Given the description of an element on the screen output the (x, y) to click on. 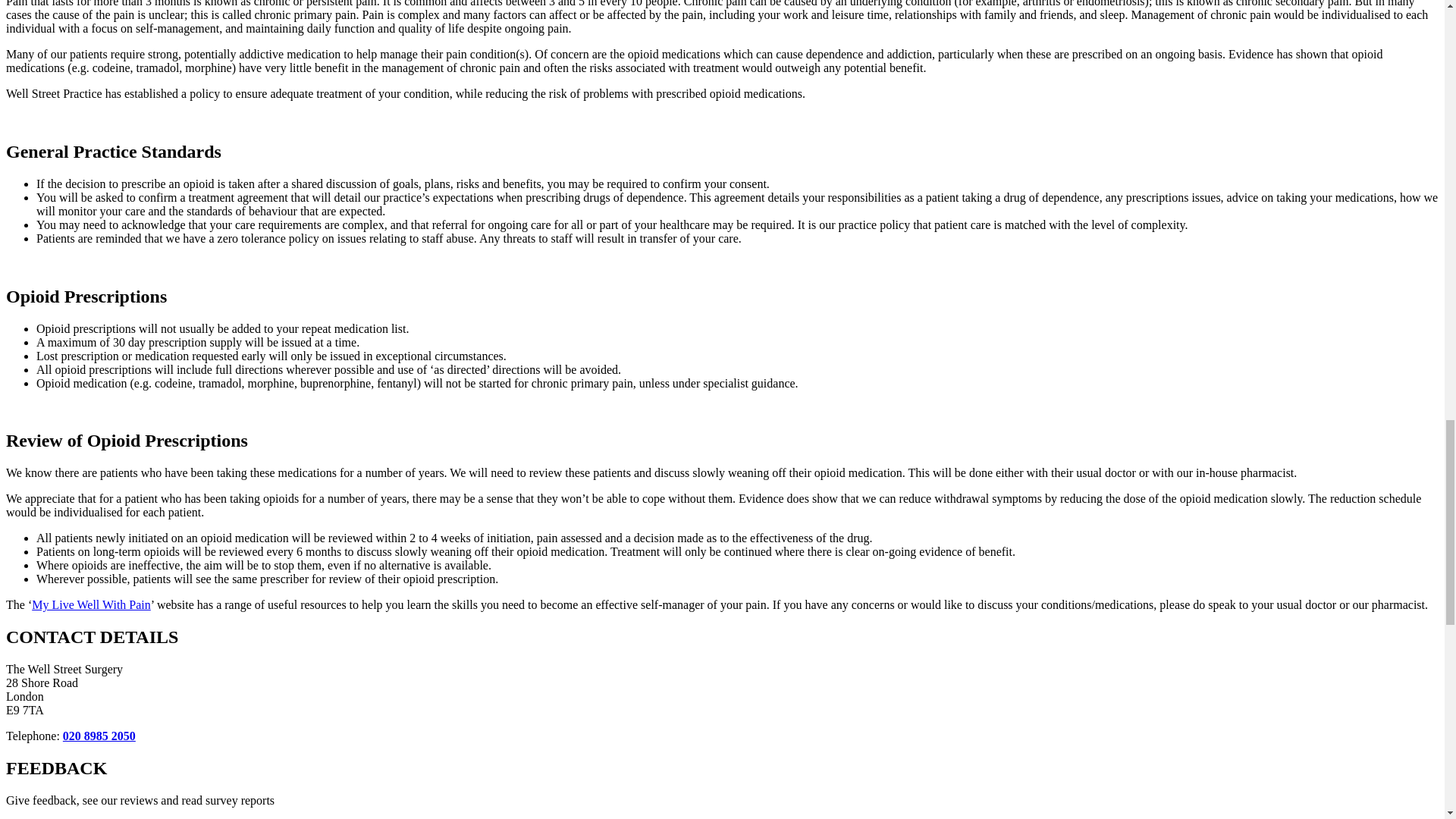
020 8985 2050 (98, 735)
My Live Well With Pain (91, 604)
